Given the description of an element on the screen output the (x, y) to click on. 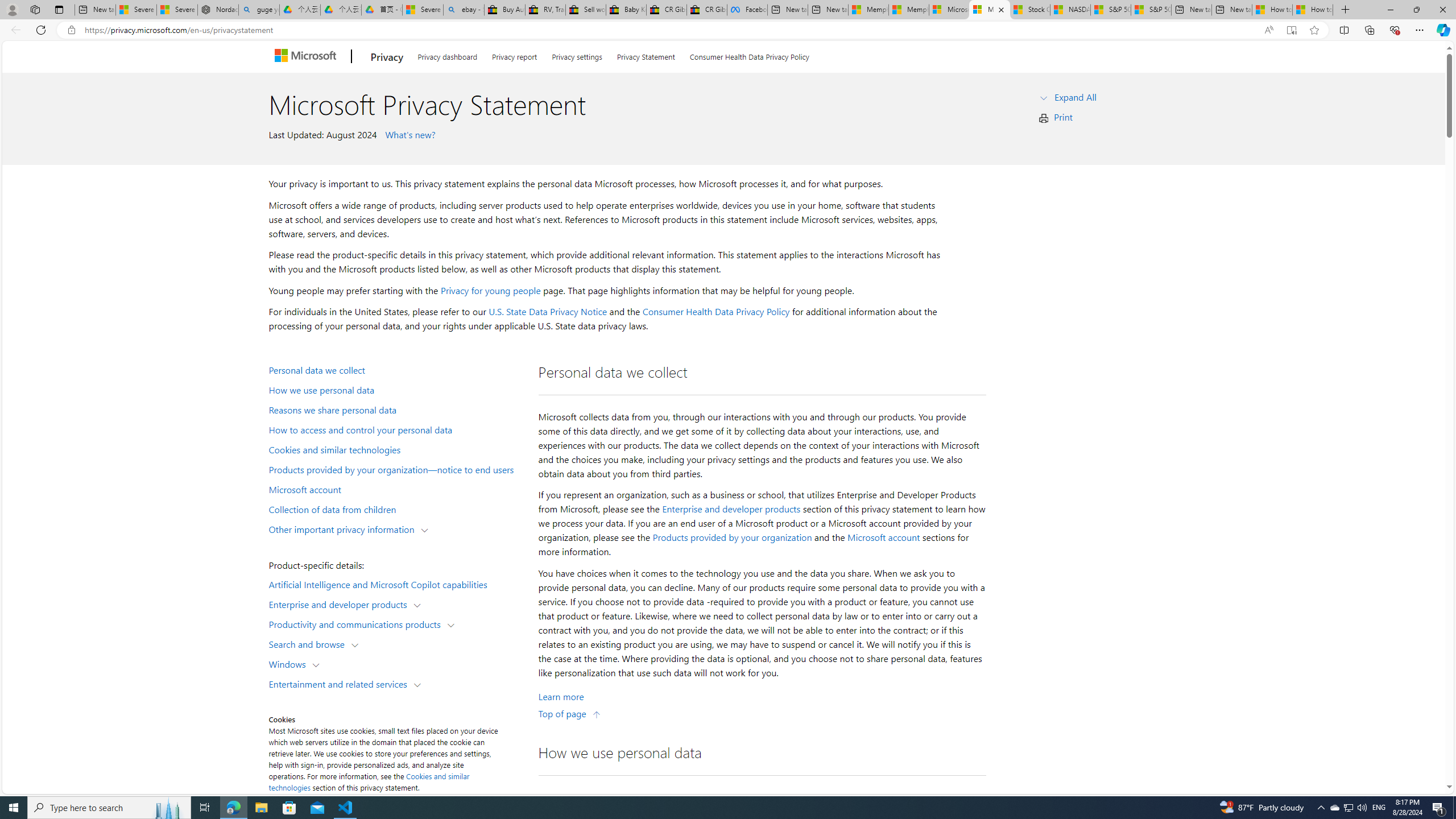
 What's new? (408, 133)
Collection of data from children (395, 508)
Cookies and similar technologies (368, 780)
Print (1063, 116)
How we use personal data (395, 389)
Entertainment and related services (340, 683)
Privacy for young people (489, 290)
